Given the description of an element on the screen output the (x, y) to click on. 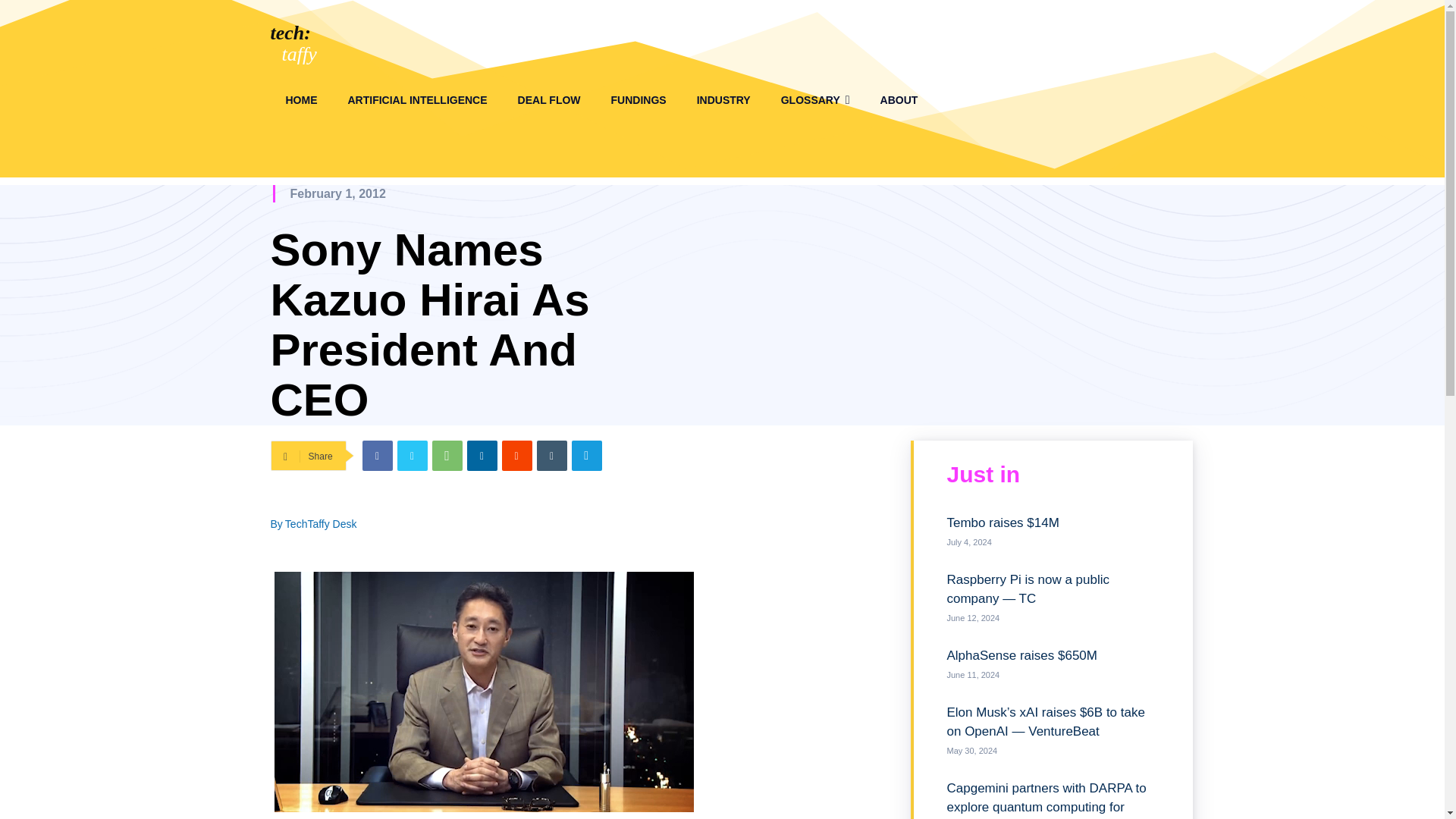
tech: (289, 33)
taffy (299, 54)
GLOSSARY (814, 99)
ABOUT (898, 99)
TechTaffy Desk (320, 523)
WhatsApp (447, 455)
Tumblr (552, 455)
INDUSTRY (723, 99)
Twitter (412, 455)
